Given the description of an element on the screen output the (x, y) to click on. 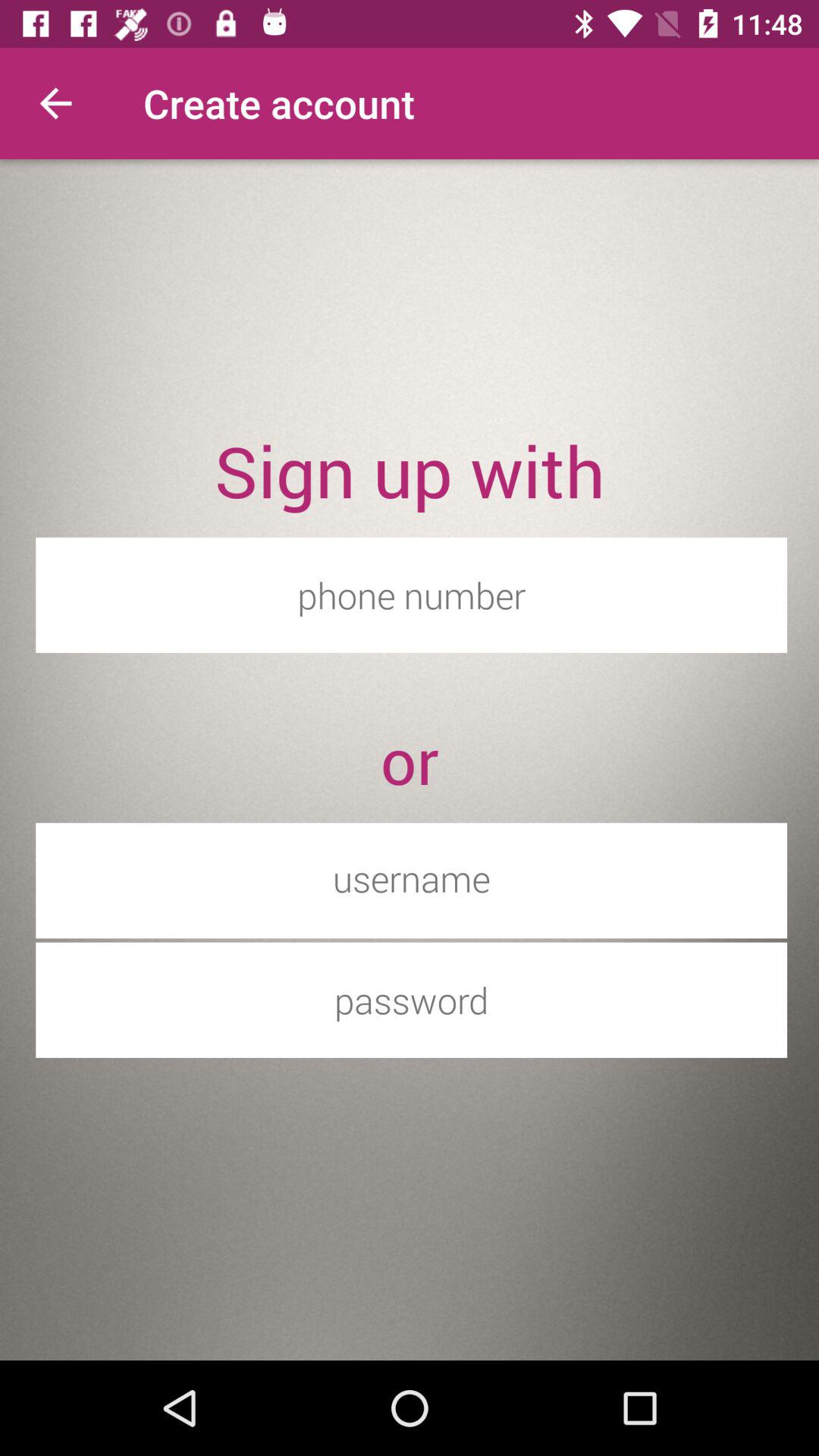
write user name (411, 878)
